Given the description of an element on the screen output the (x, y) to click on. 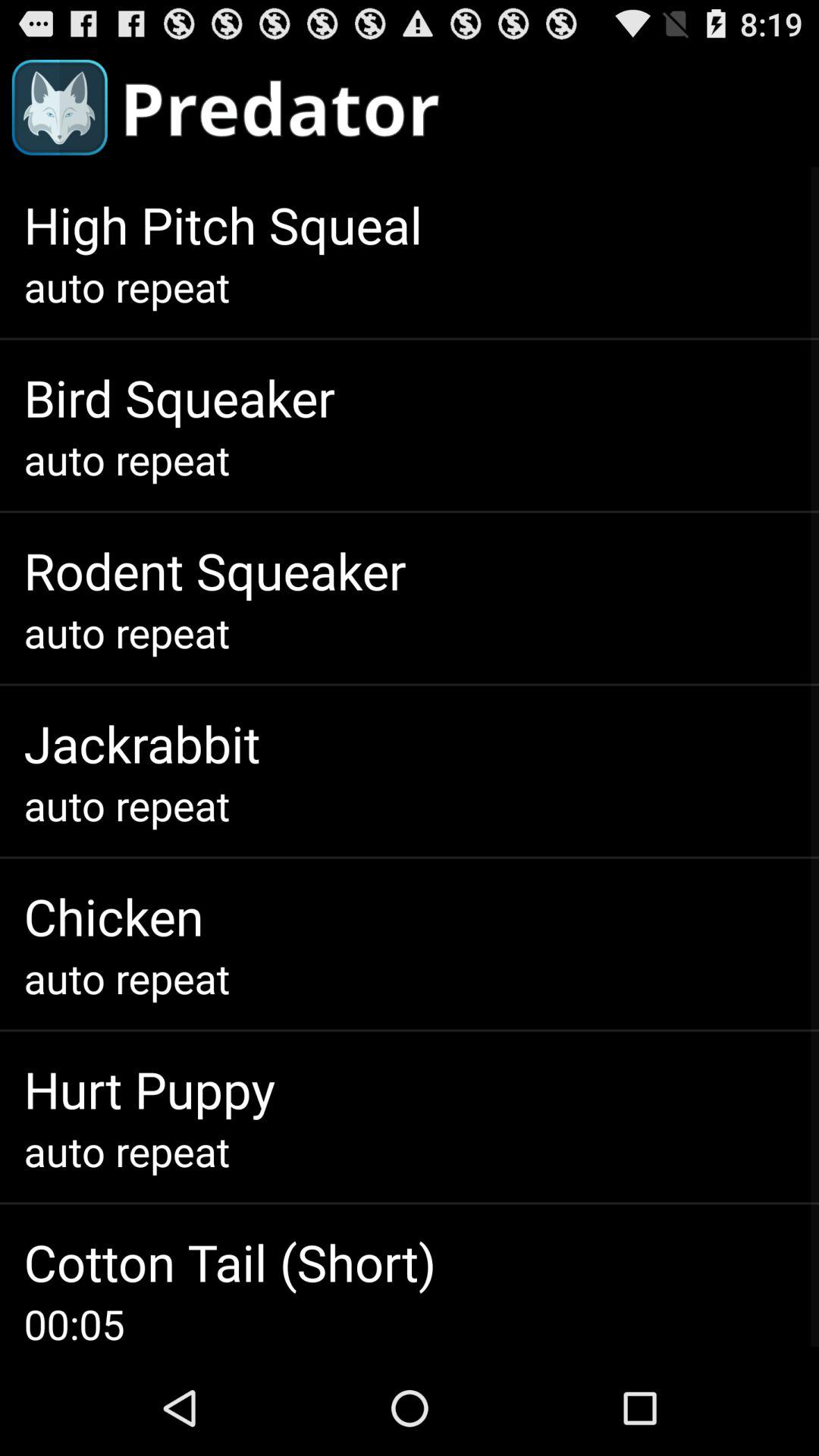
turn off high pitch squeal icon (222, 224)
